Given the description of an element on the screen output the (x, y) to click on. 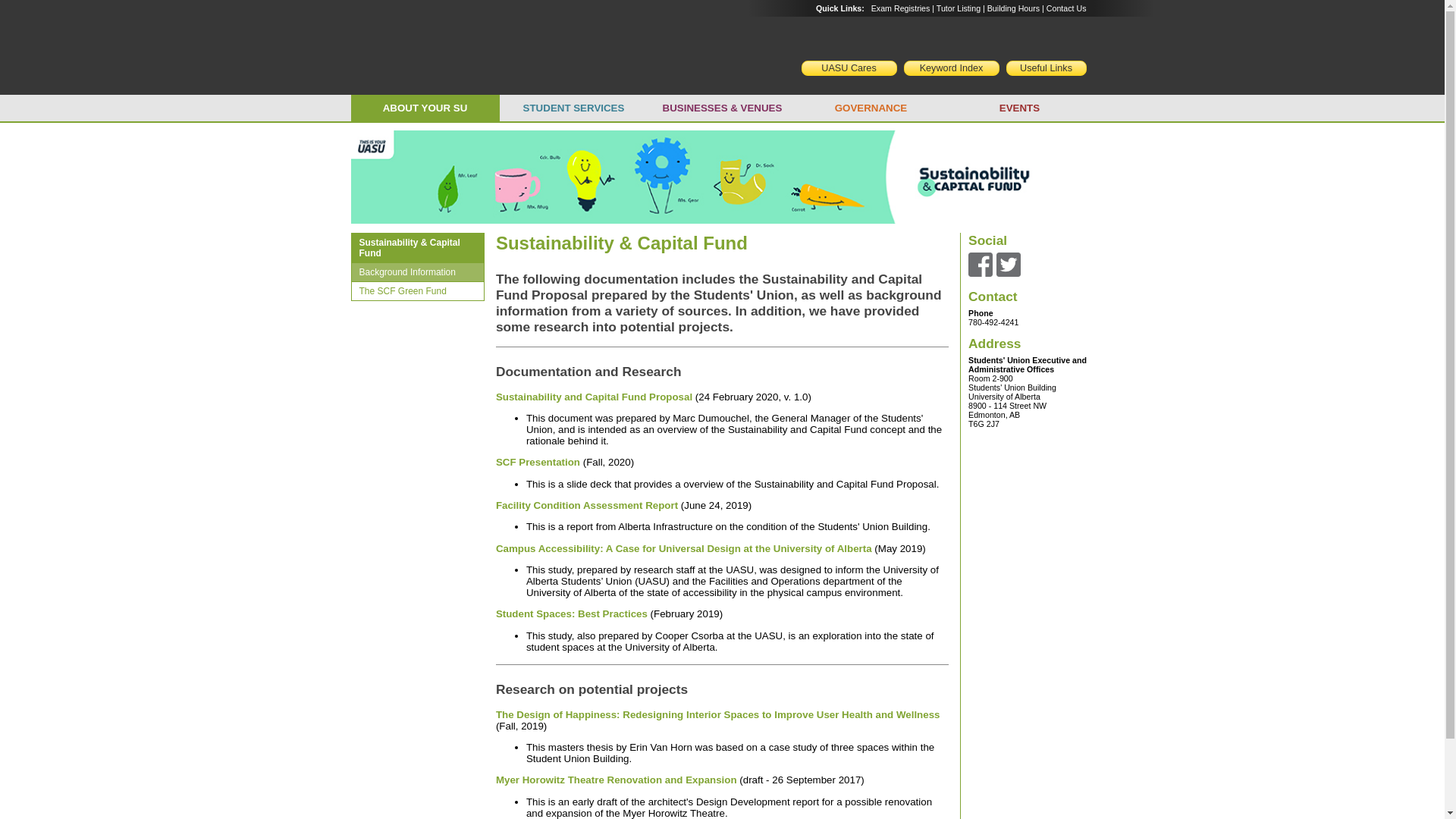
Keyword Index (951, 68)
Twitter (1007, 263)
Exam Registries (900, 8)
UASU Cares (848, 68)
Building Hours (1013, 8)
ABOUT YOUR SU (424, 108)
STUDENT SERVICES (573, 108)
Facebook (980, 263)
Useful Links (1046, 68)
Contact Us (1066, 8)
Tutor Listing (957, 8)
